Given the description of an element on the screen output the (x, y) to click on. 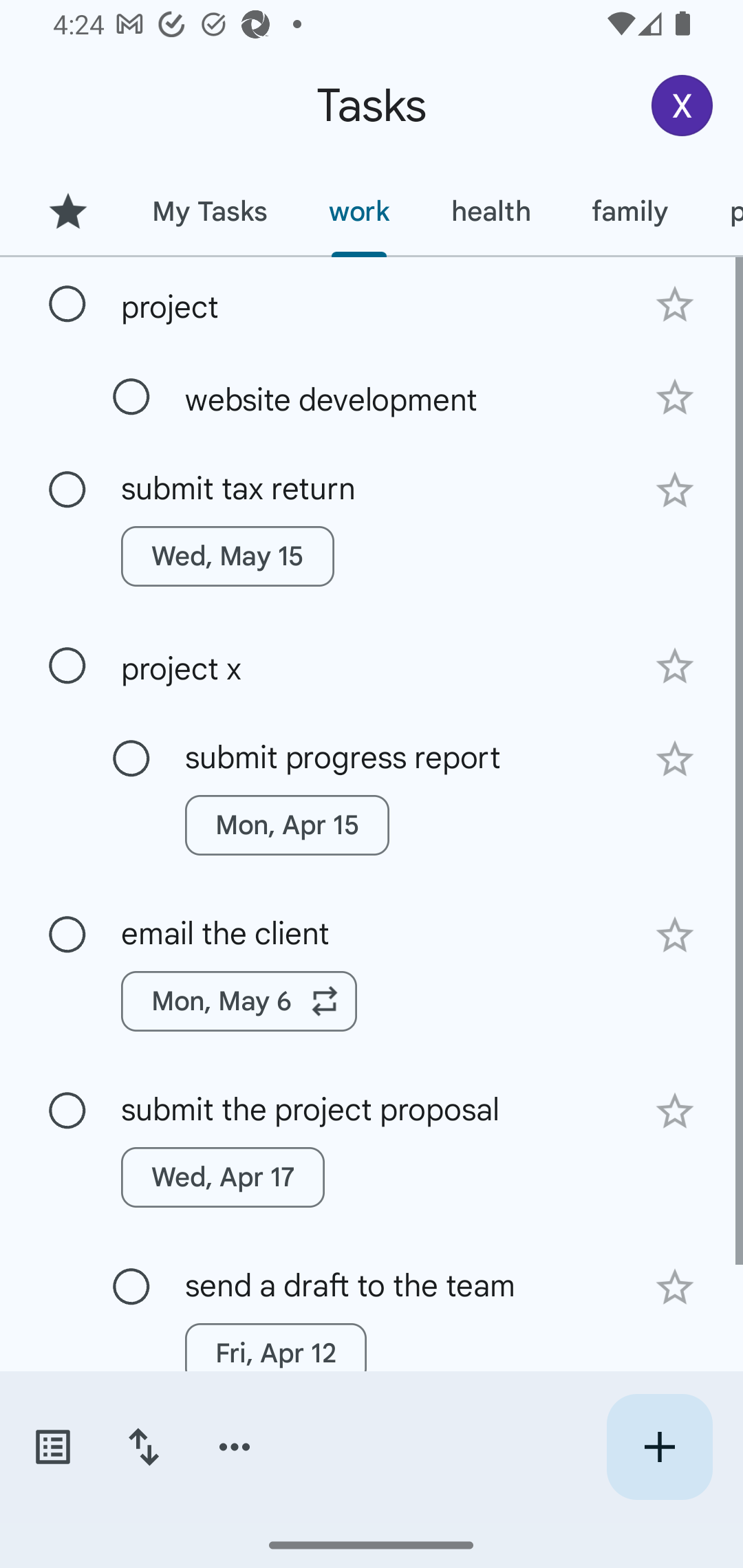
Starred (67, 211)
My Tasks (209, 211)
health (490, 211)
family (629, 211)
Add star (674, 303)
Mark as complete (67, 304)
Add star (674, 397)
Mark as complete (131, 397)
Add star (674, 490)
Mark as complete (67, 489)
Wed, May 15 (227, 556)
Add star (674, 665)
Mark as complete (67, 666)
Add star (674, 758)
Mark as complete (131, 759)
Mon, Apr 15 (287, 824)
Add star (674, 935)
Mark as complete (67, 935)
Mon, May 6 (239, 1001)
Add star (674, 1111)
Mark as complete (67, 1110)
Wed, Apr 17 (222, 1177)
Add star (674, 1286)
Mark as complete (131, 1287)
Fri, Apr 12 (276, 1352)
Switch task lists (52, 1447)
Create new task (659, 1446)
Change sort order (143, 1446)
More options (234, 1446)
